Given the description of an element on the screen output the (x, y) to click on. 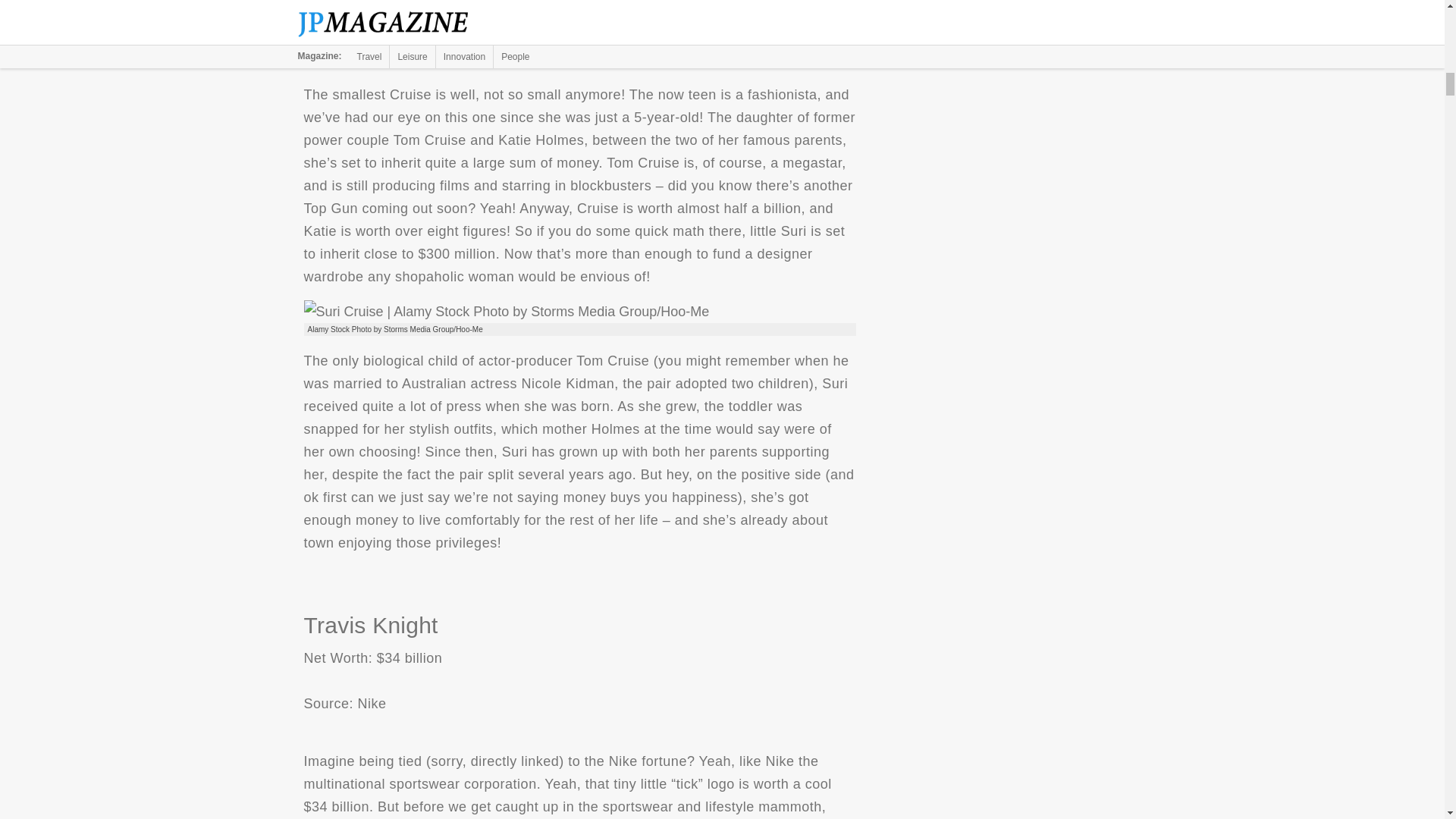
Suri Cruise (505, 311)
